Given the description of an element on the screen output the (x, y) to click on. 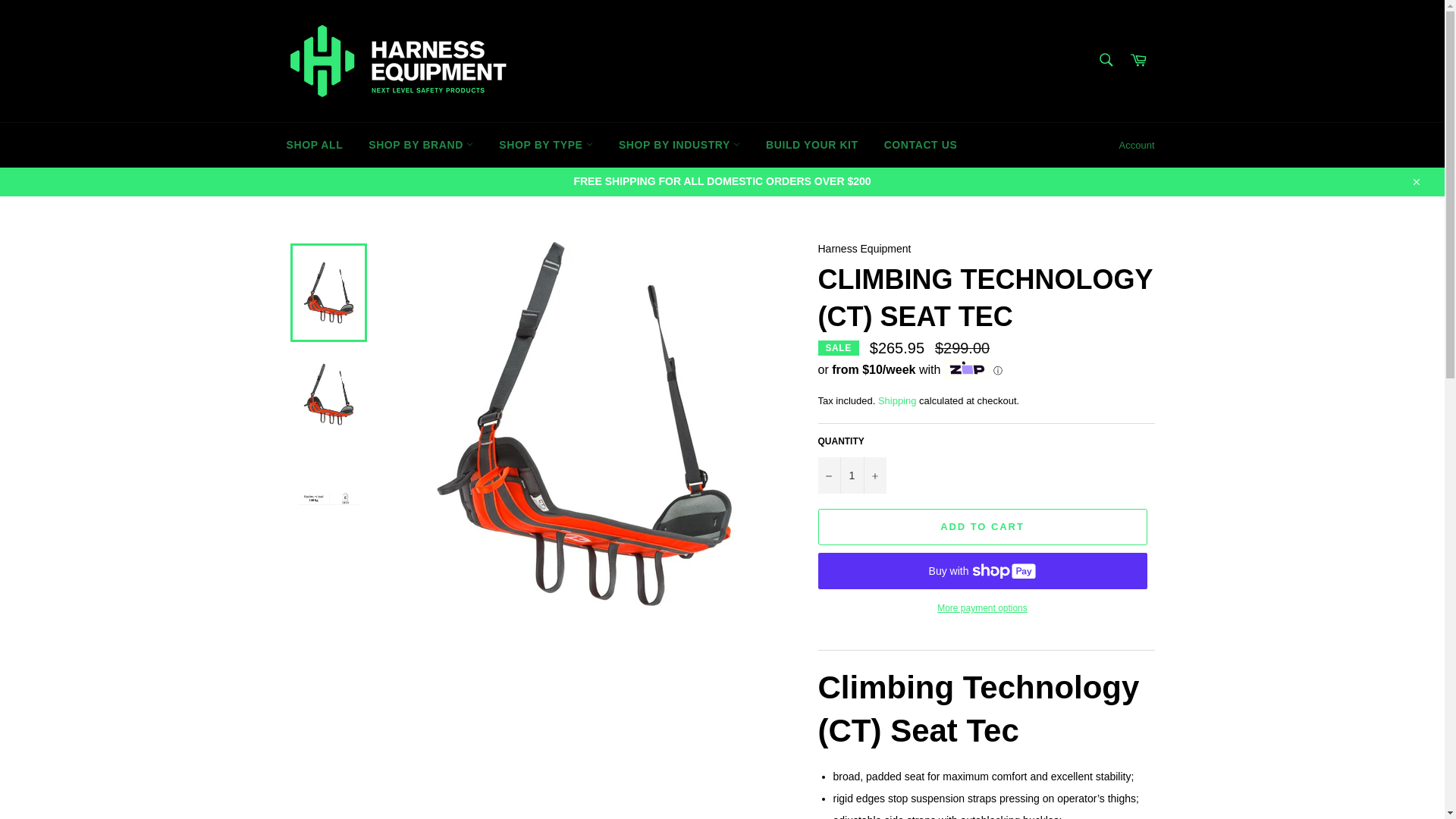
1 (850, 475)
